Given the description of an element on the screen output the (x, y) to click on. 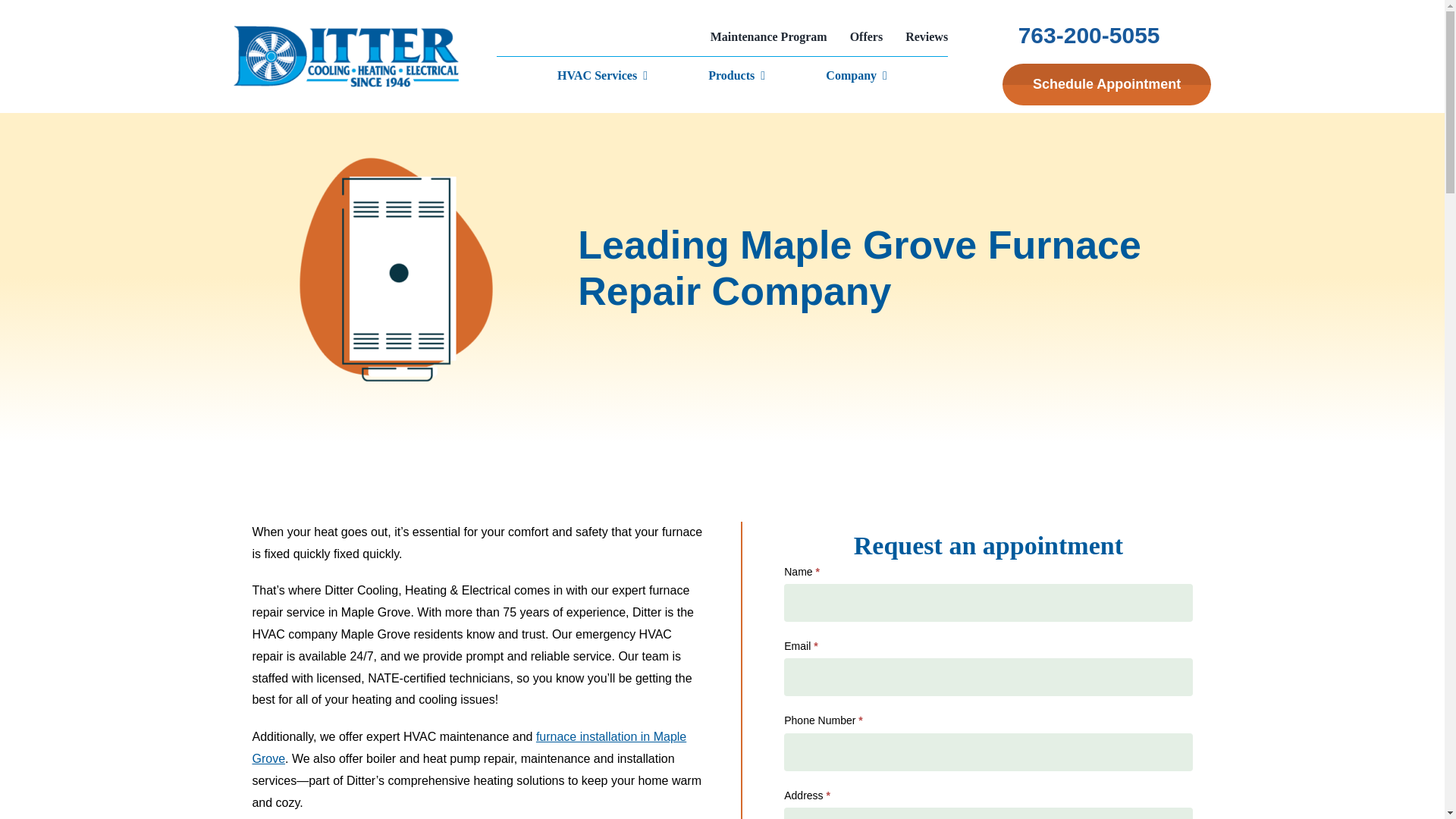
Reviews (926, 37)
Maintenance Program (768, 37)
HVAC Services (597, 75)
Furnace Icon (396, 270)
Products (730, 75)
